Given the description of an element on the screen output the (x, y) to click on. 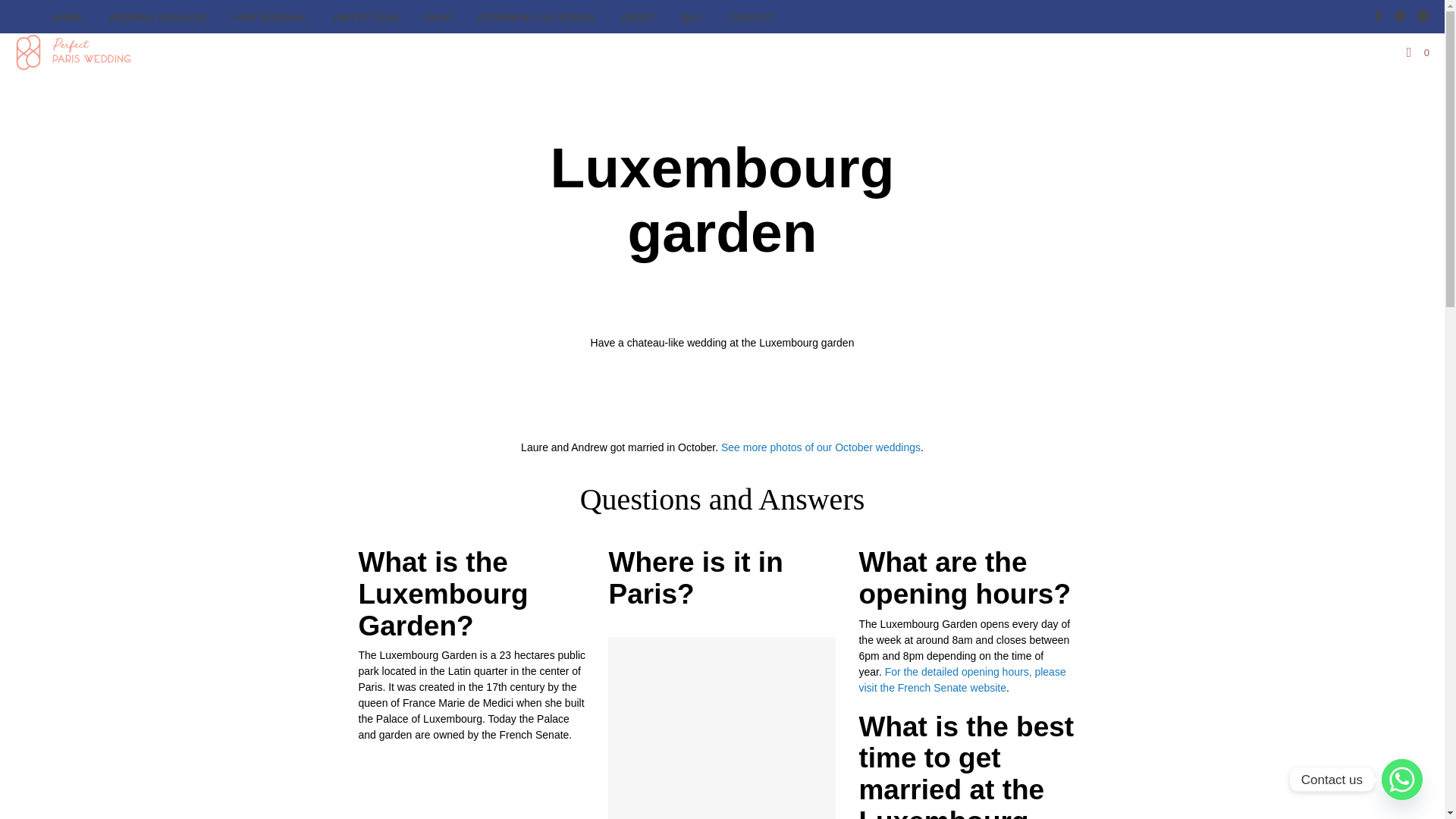
PHOTO TOUR (365, 17)
ABOUT (637, 17)
VOW RENEWAL (270, 17)
SHOP (438, 17)
WEDDING PACKAGE (157, 17)
CEREMONY LOCATIONS (535, 17)
0 (1417, 52)
CONTACT (751, 17)
See more photos of our October weddings (820, 447)
HOME (68, 17)
